Given the description of an element on the screen output the (x, y) to click on. 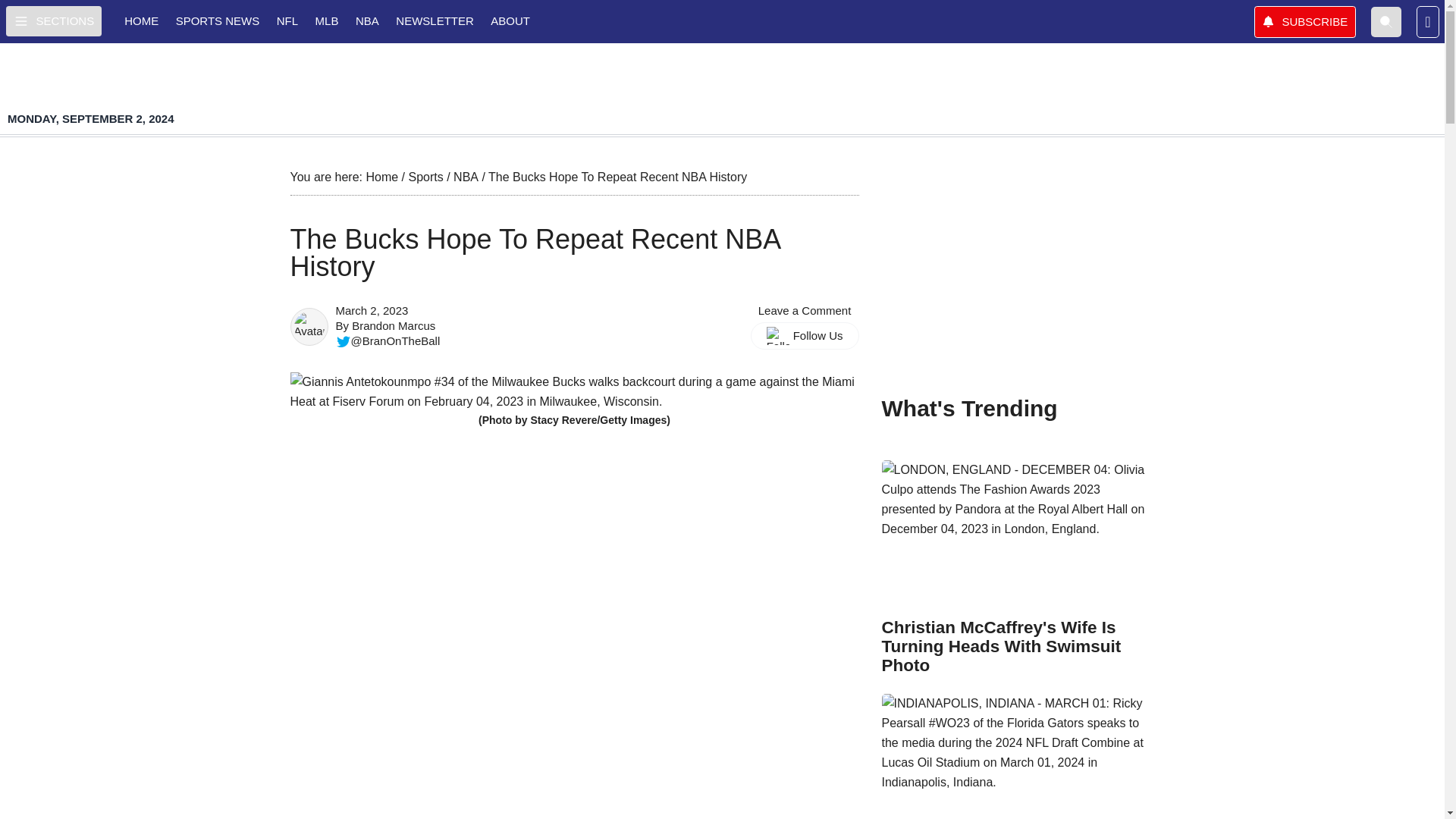
Open Menu (53, 20)
Search (1385, 20)
